Given the description of an element on the screen output the (x, y) to click on. 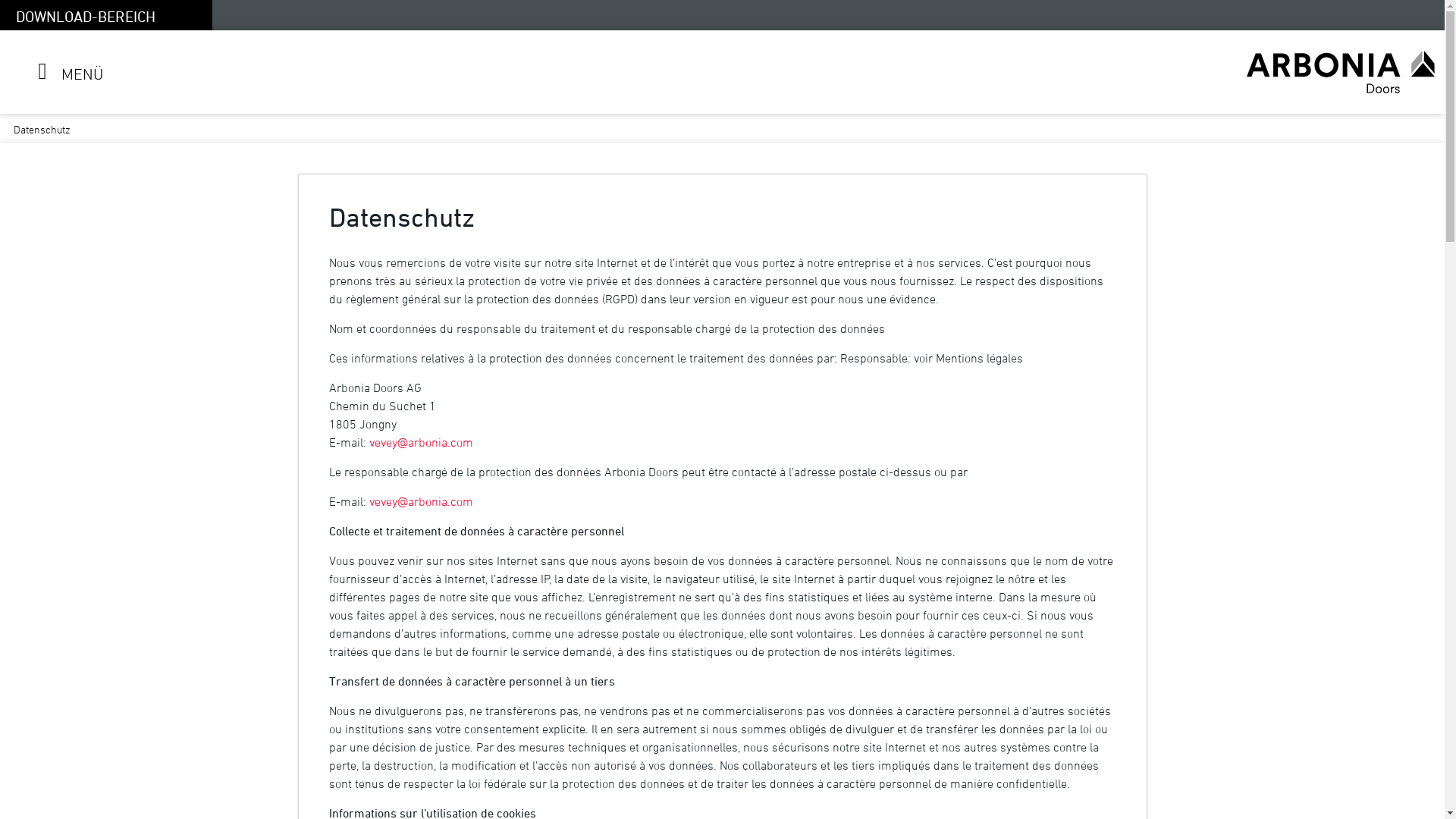
vevey@arbonia.com Element type: text (420, 501)
Arbonia Doors Element type: hover (1340, 71)
vevey@arbonia.com Element type: text (420, 441)
